Given the description of an element on the screen output the (x, y) to click on. 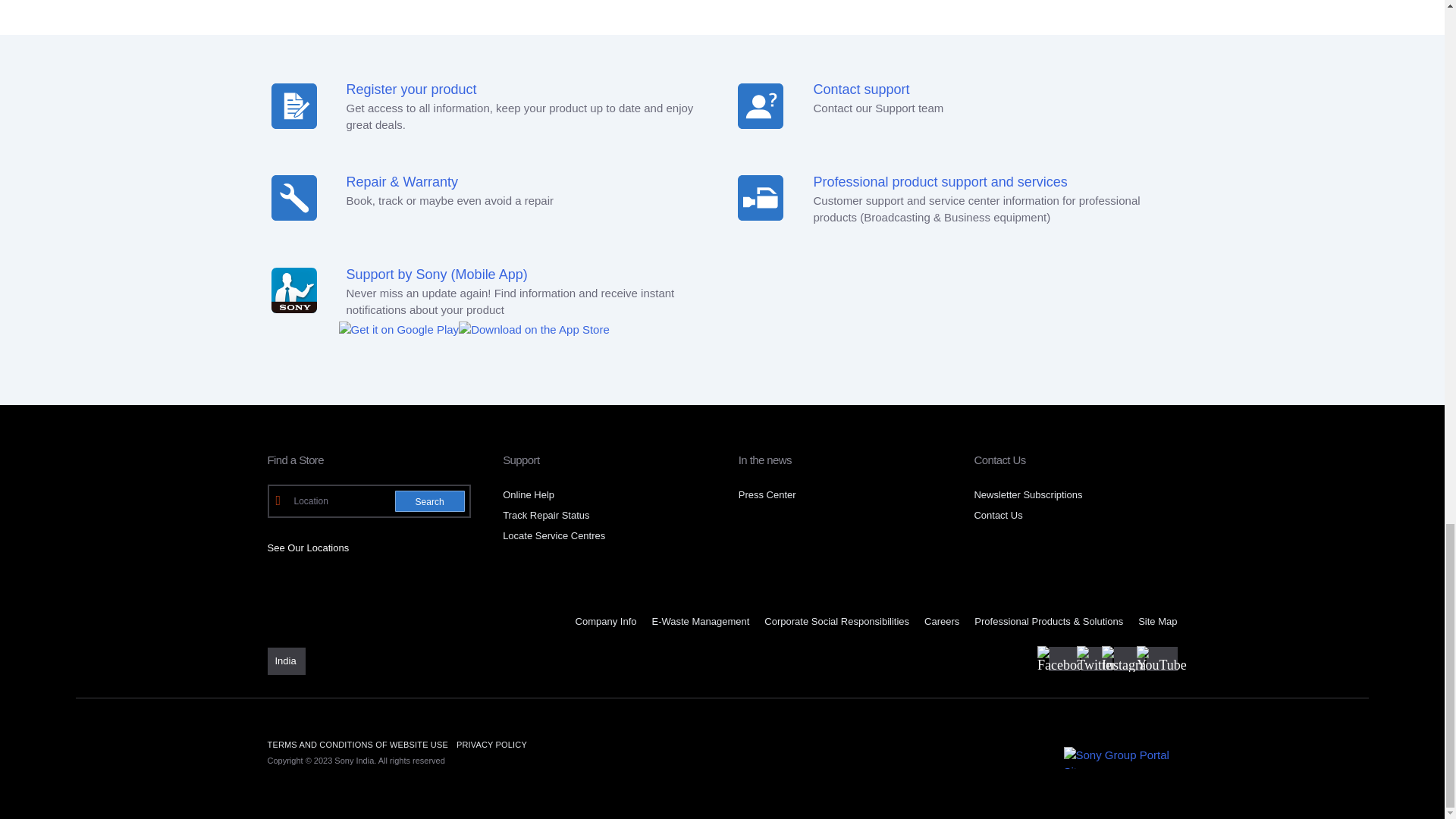
nntnnnttnn (760, 197)
